Given the description of an element on the screen output the (x, y) to click on. 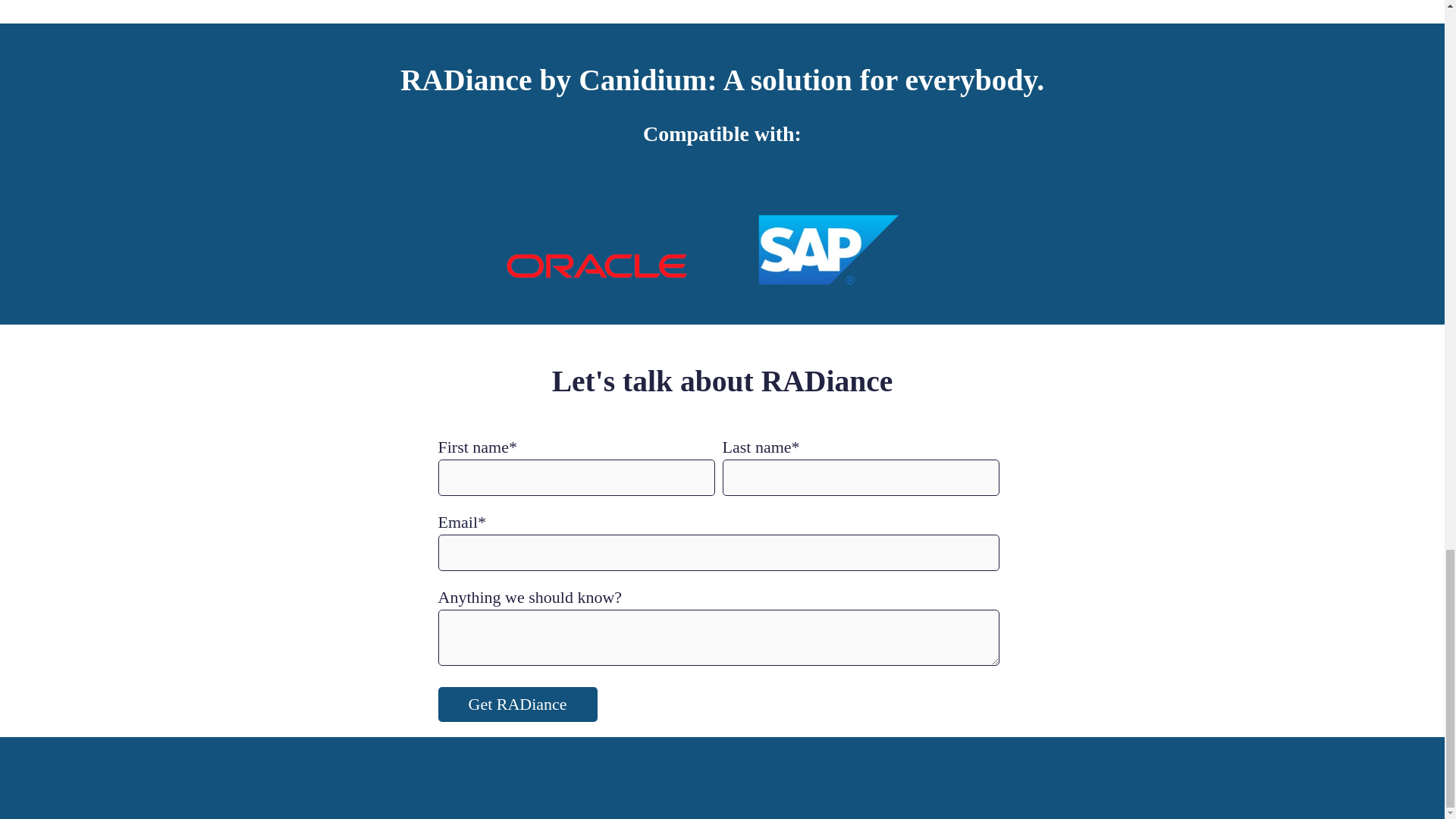
Get RADiance (517, 704)
Get RADiance (517, 704)
image-removebg-previeworacle (596, 262)
